Given the description of an element on the screen output the (x, y) to click on. 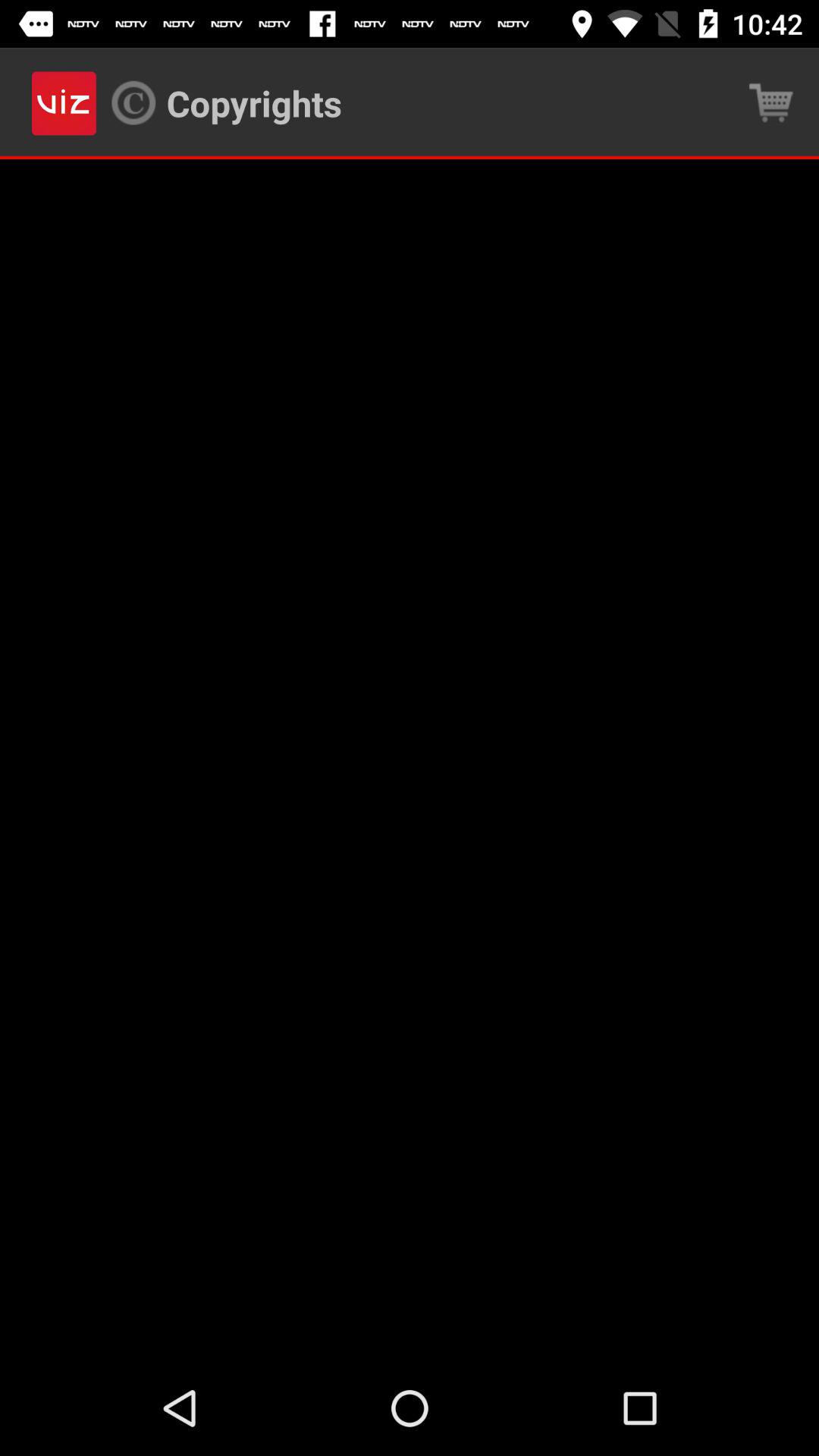
turn off item at the top right corner (771, 103)
